Given the description of an element on the screen output the (x, y) to click on. 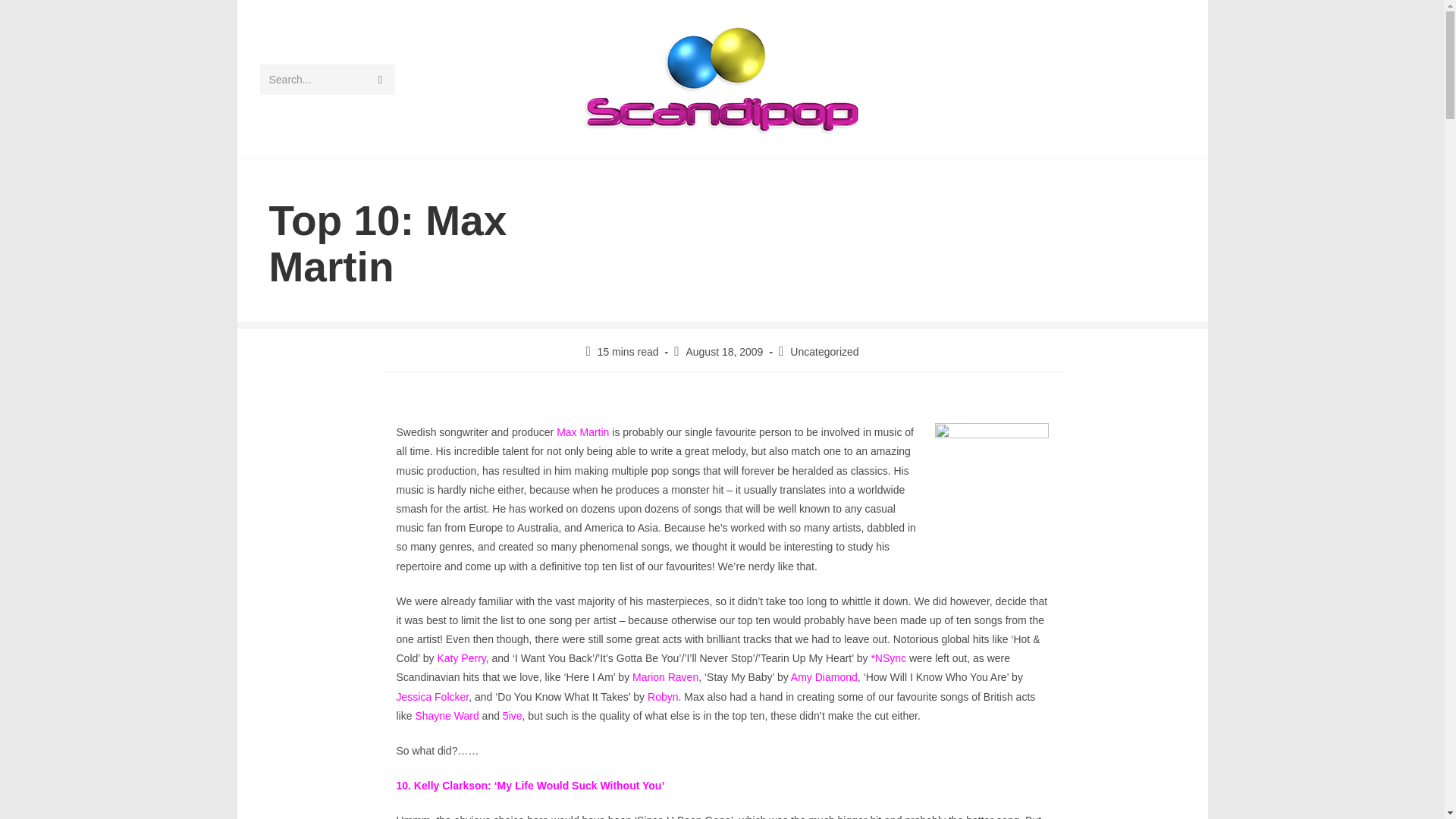
Submit search (379, 78)
